Given the description of an element on the screen output the (x, y) to click on. 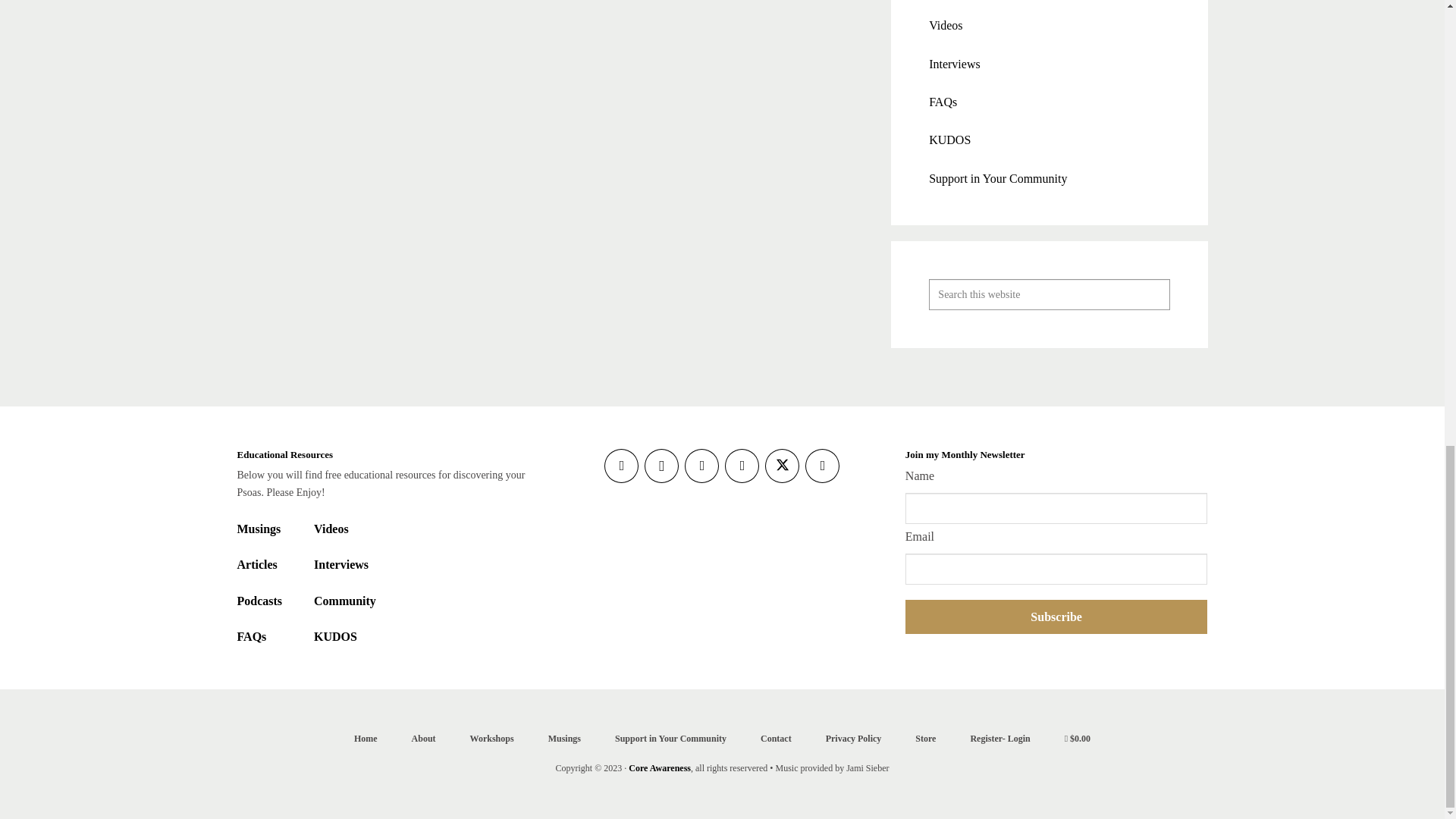
Articles (255, 563)
Support in Your Community (997, 178)
Videos (945, 24)
Musings (258, 528)
Instagram (661, 465)
Facebook (621, 465)
KUDOS (949, 139)
FAQs (942, 101)
Start shopping (1077, 738)
Twitter (782, 465)
RSS (741, 465)
YouTube (822, 465)
Interviews (953, 63)
LinkedIn (701, 465)
